Given the description of an element on the screen output the (x, y) to click on. 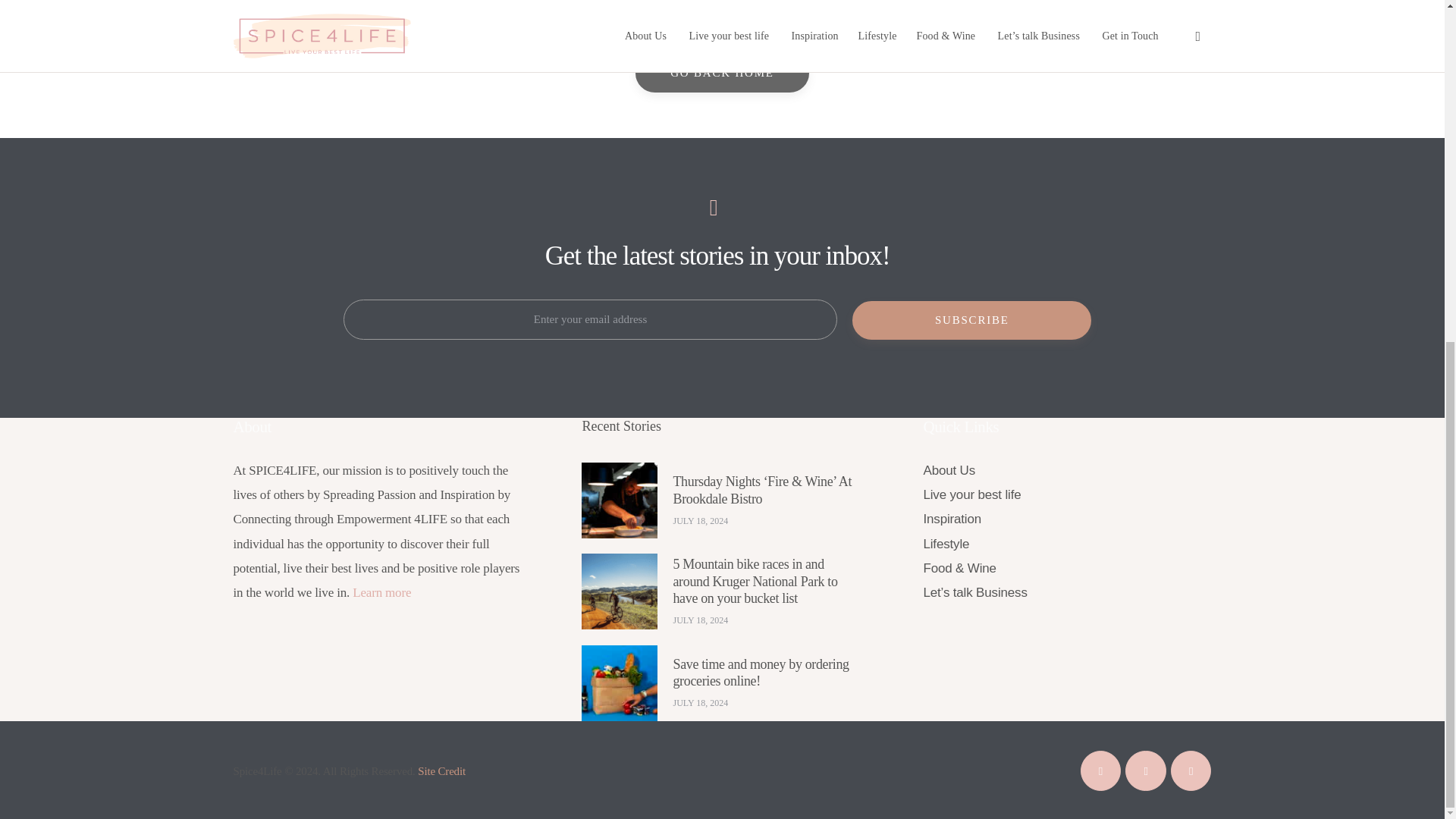
Subscribe (971, 320)
